Given the description of an element on the screen output the (x, y) to click on. 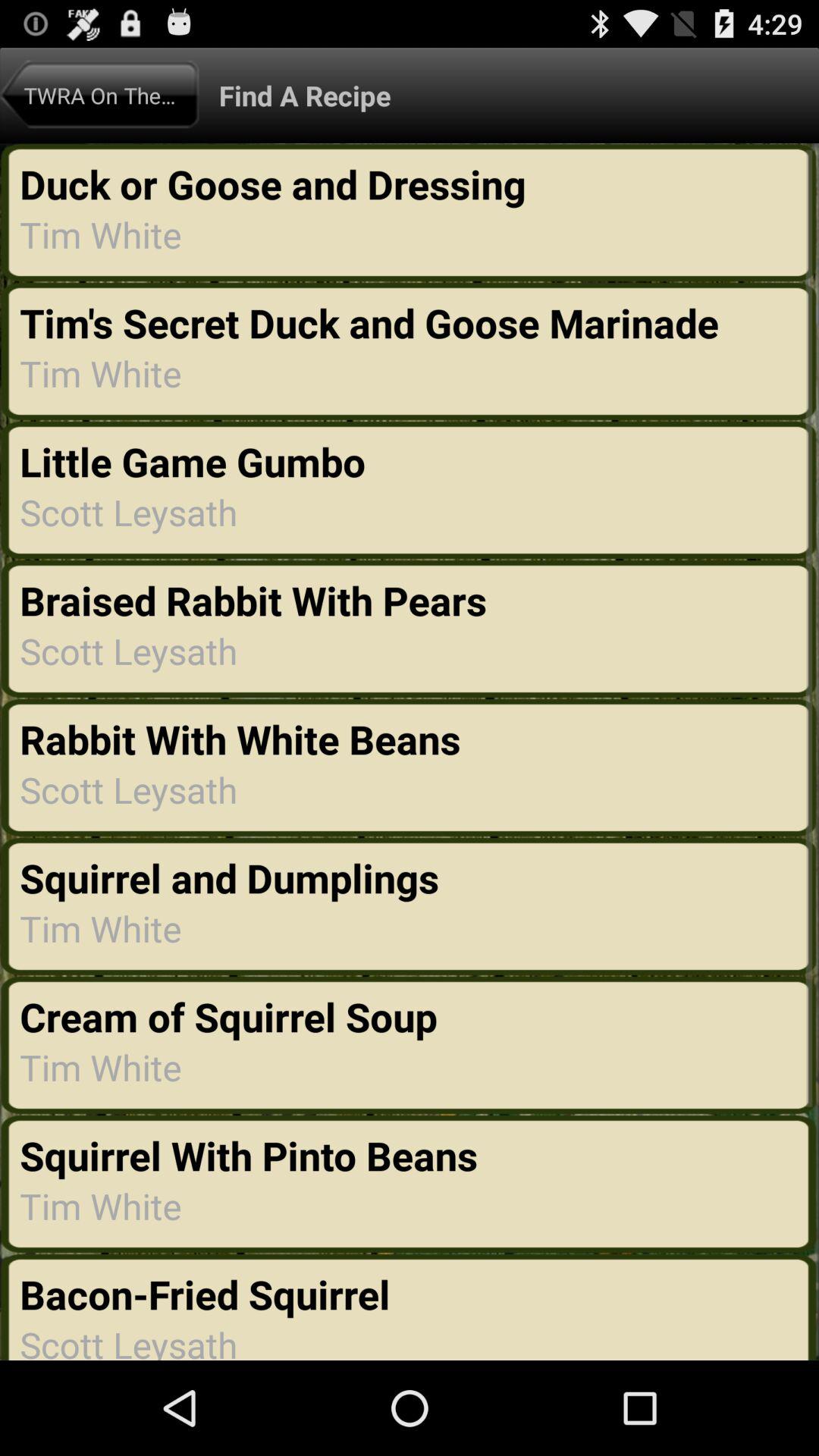
open the app to the left of the find a recipe (99, 95)
